Given the description of an element on the screen output the (x, y) to click on. 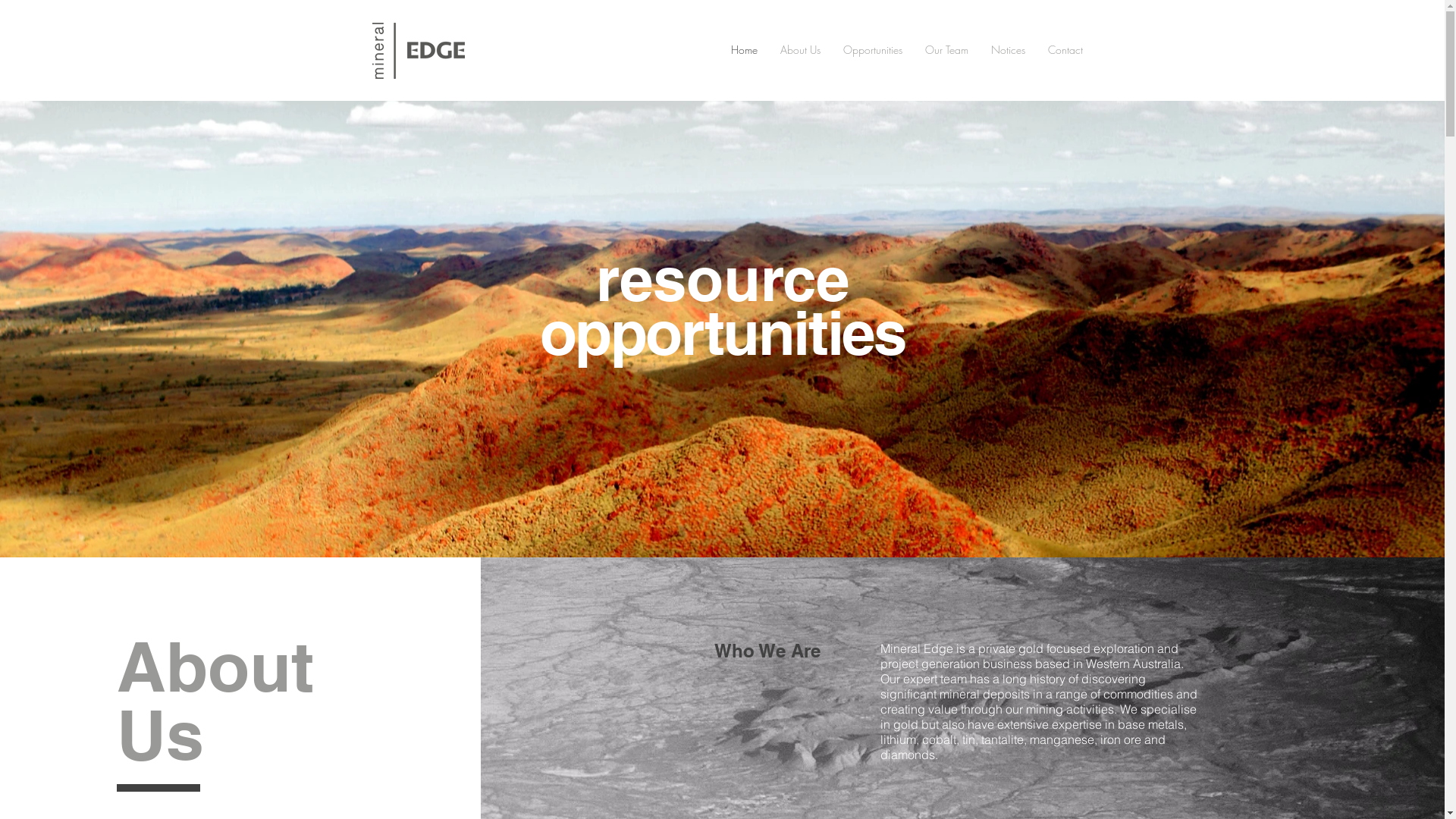
resource Element type: text (722, 278)
About Us Element type: text (799, 50)
Notices Element type: text (1007, 50)
Opportunities Element type: text (872, 50)
Our Team Element type: text (946, 50)
Home Element type: text (743, 50)
Contact Element type: text (1064, 50)
